Given the description of an element on the screen output the (x, y) to click on. 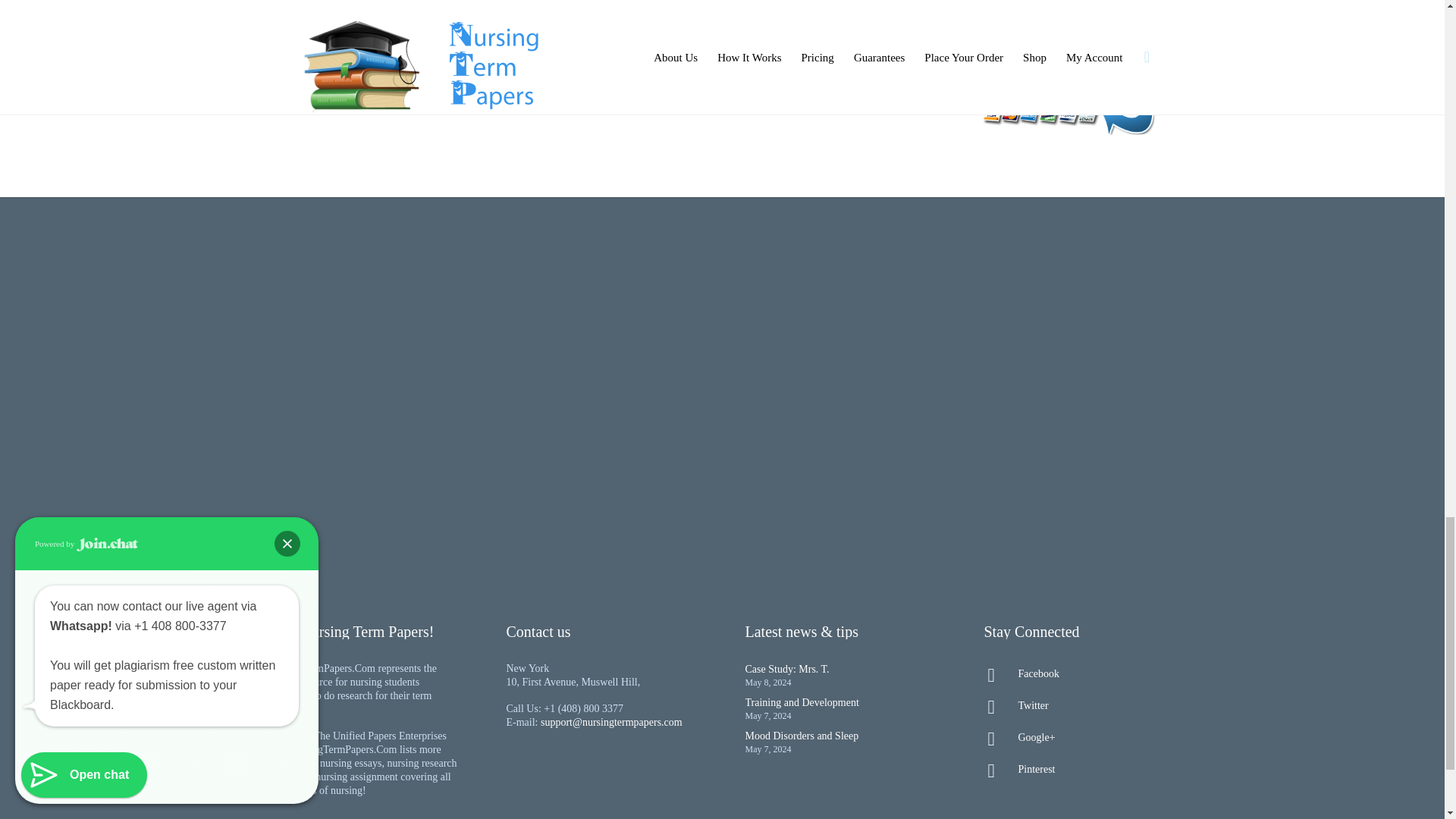
Mood Disorders and Sleep (801, 736)
Facebook (1080, 673)
Training and Development (801, 702)
Case Study: Mrs. T. (786, 668)
Twitter (1080, 705)
Pinterest (1080, 769)
